Given the description of an element on the screen output the (x, y) to click on. 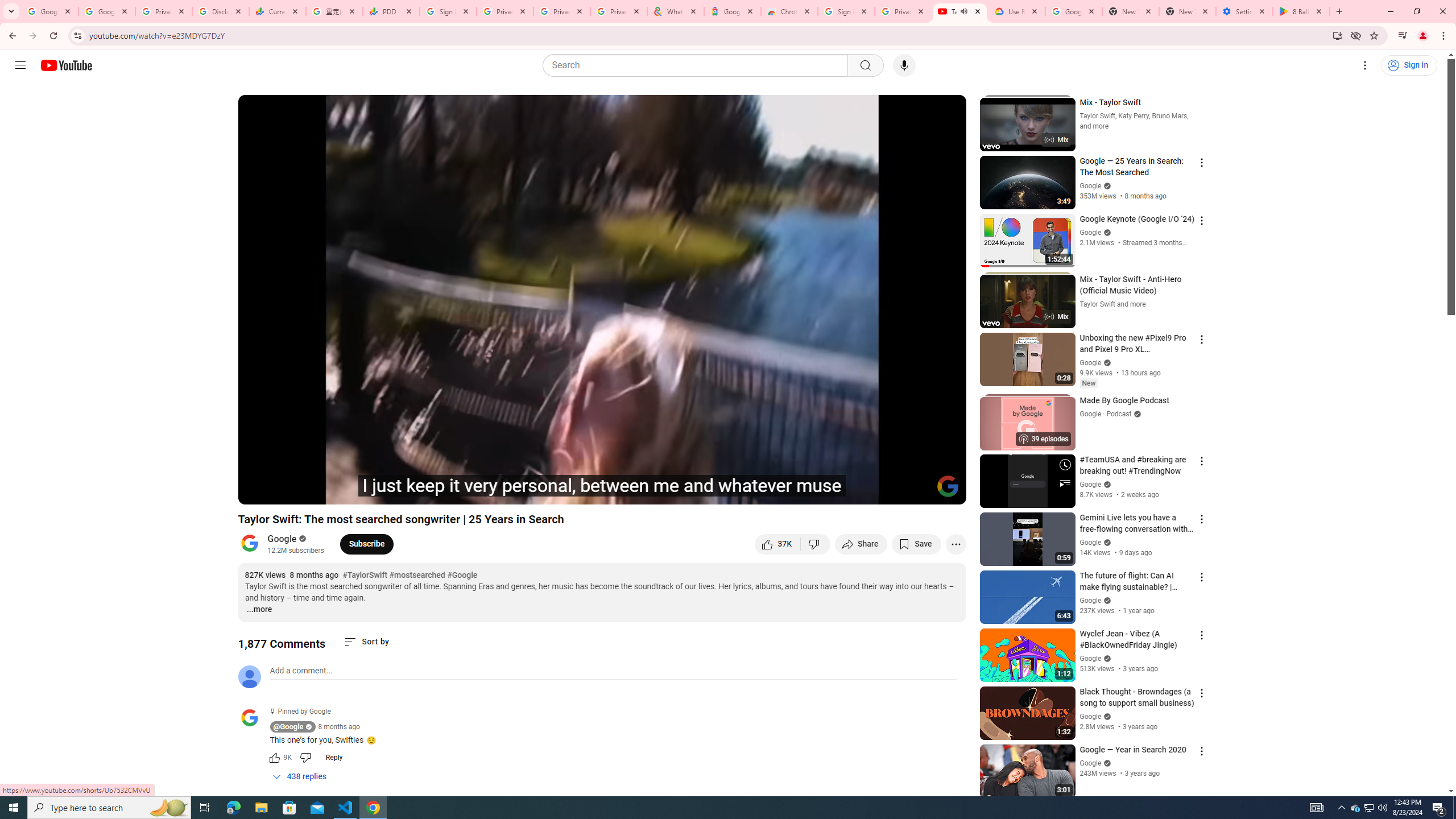
Theater mode (t) (917, 490)
...more (259, 609)
Subscribe to Google. (366, 543)
Install YouTube (1336, 35)
New Tab (1187, 11)
More actions (955, 543)
